Given the description of an element on the screen output the (x, y) to click on. 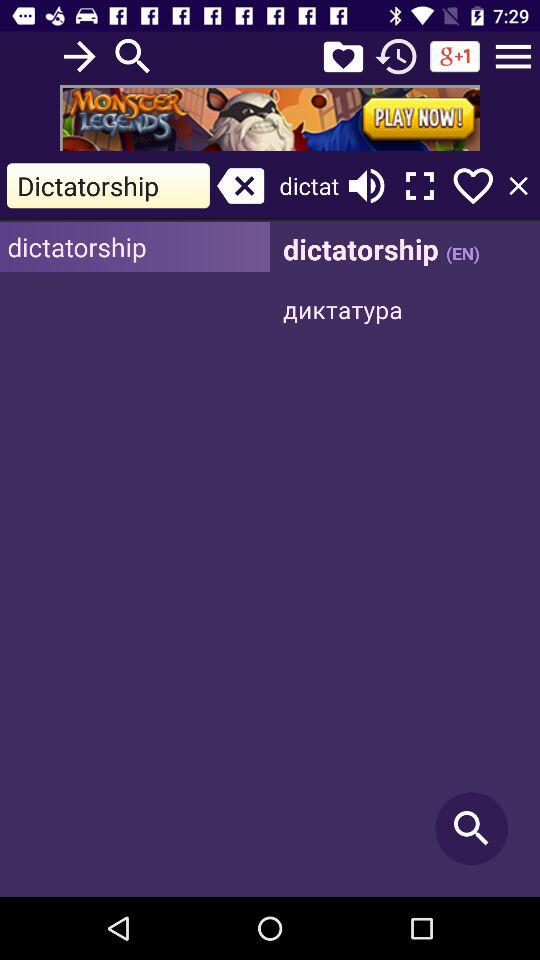
advertisement banner (270, 117)
